Given the description of an element on the screen output the (x, y) to click on. 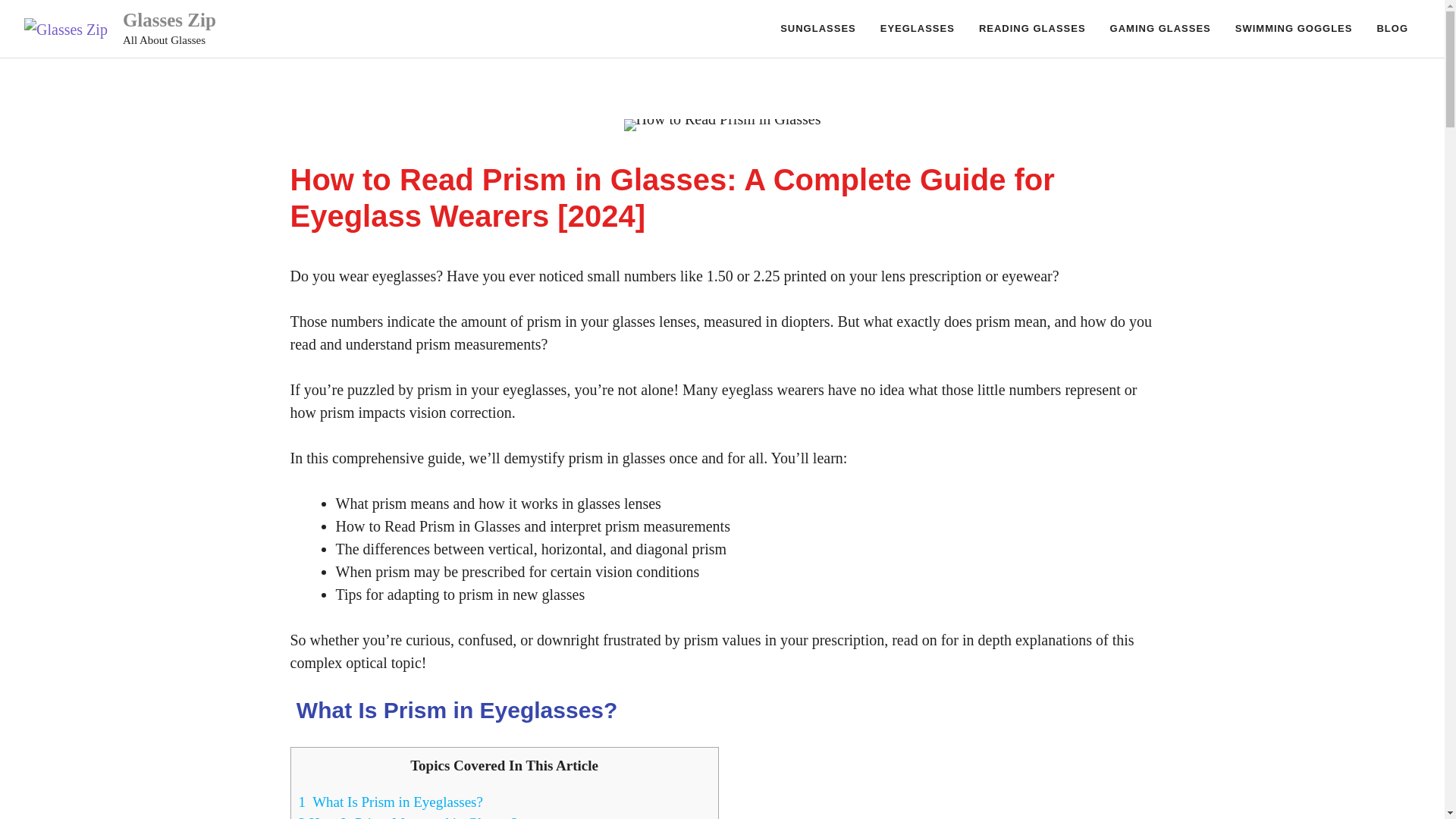
READING GLASSES (1031, 28)
BLOG (1392, 28)
SWIMMING GOGGLES (1294, 28)
1  What Is Prism in Eyeglasses? (390, 801)
SUNGLASSES (817, 28)
GAMING GLASSES (1160, 28)
Glasses Zip (168, 19)
2 How Is Prism Measured in Glasses? (408, 816)
EYEGLASSES (916, 28)
